Given the description of an element on the screen output the (x, y) to click on. 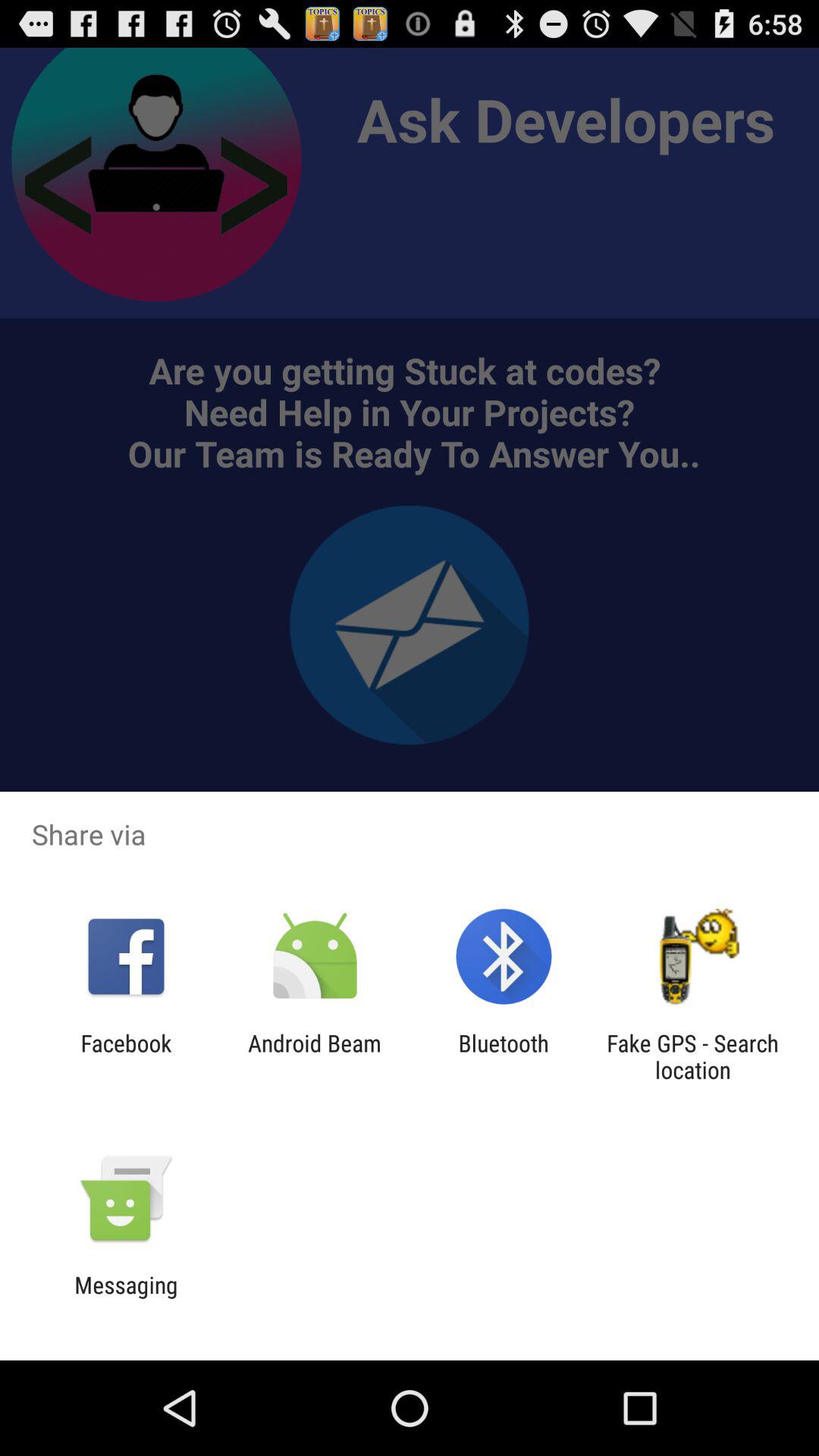
jump to the bluetooth item (503, 1056)
